Given the description of an element on the screen output the (x, y) to click on. 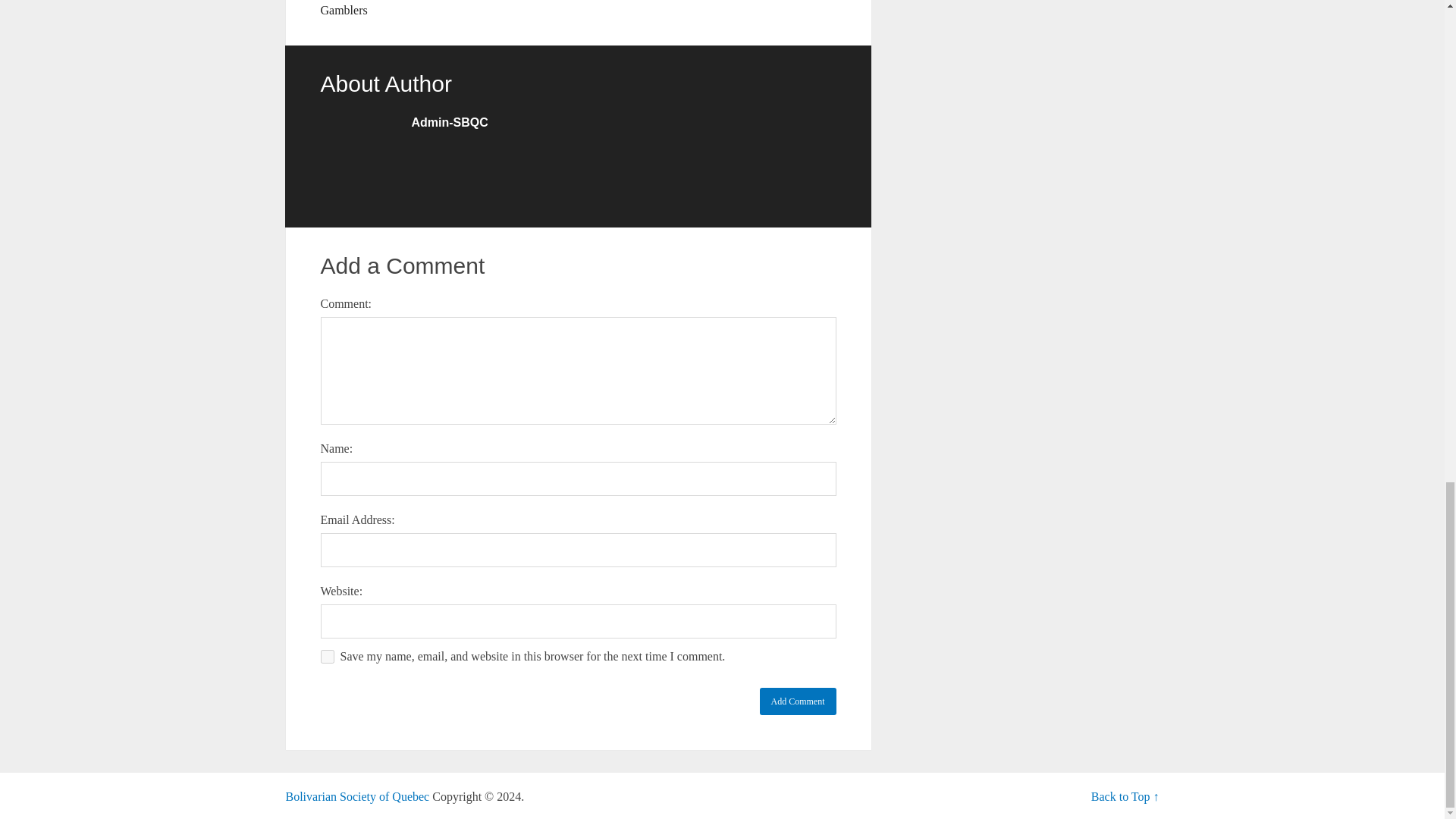
Add Comment (797, 700)
yes (326, 656)
Add Comment (797, 700)
Alternative information on Latin America and Quebec (357, 796)
Bolivarian Society of Quebec (357, 796)
